Given the description of an element on the screen output the (x, y) to click on. 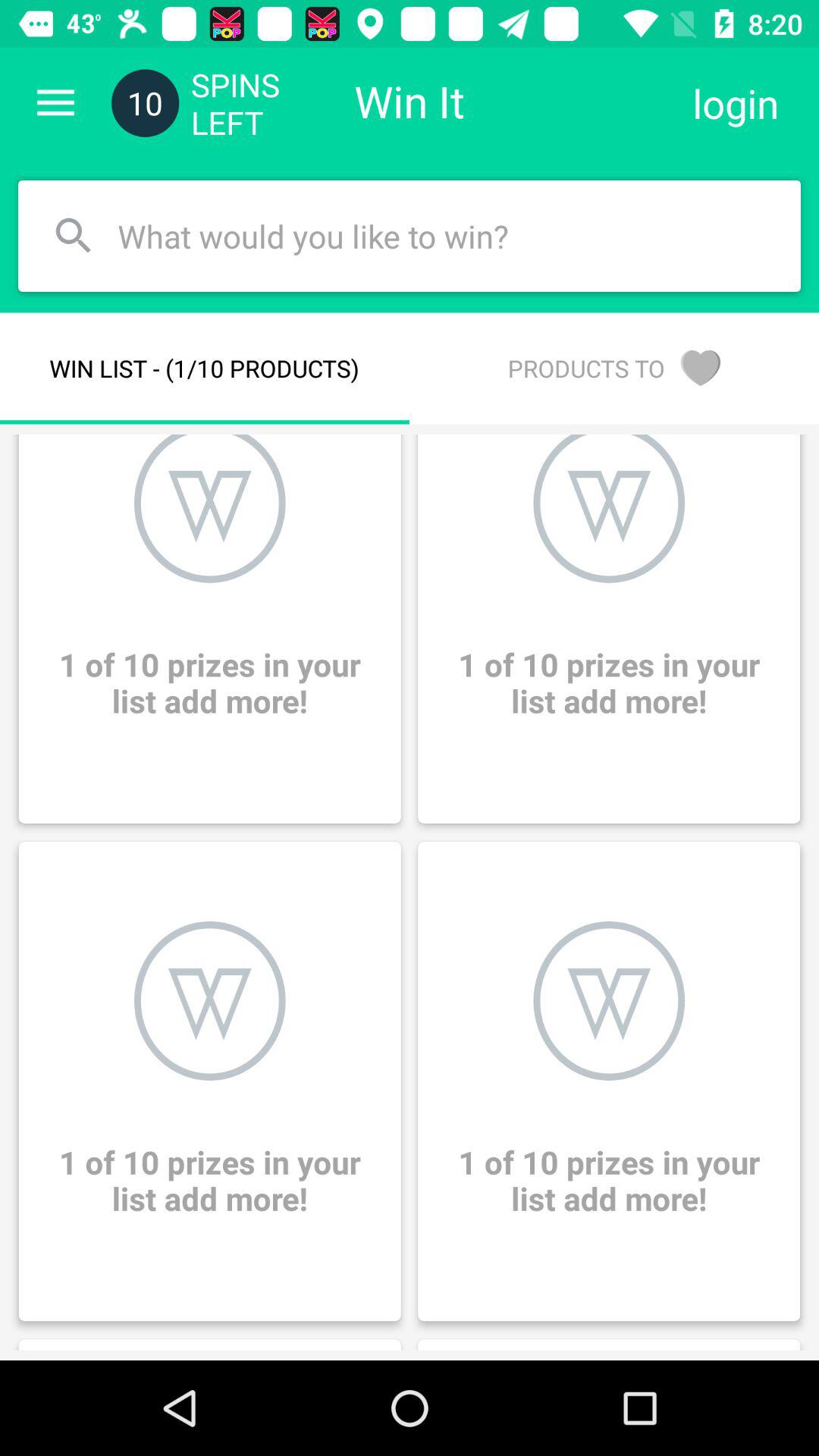
open item to the right of the win it (735, 102)
